Given the description of an element on the screen output the (x, y) to click on. 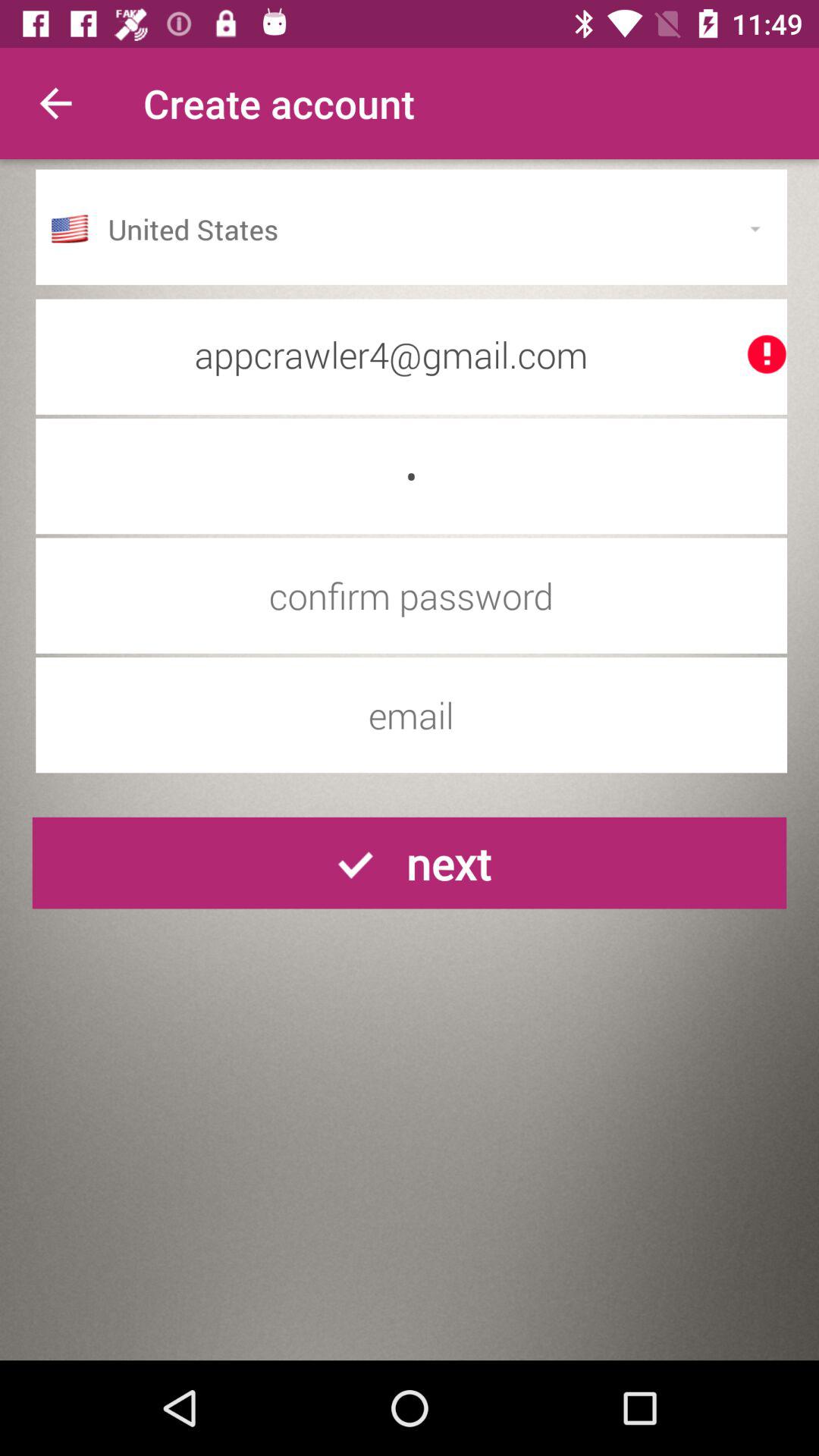
select icon above united states icon (55, 103)
